Given the description of an element on the screen output the (x, y) to click on. 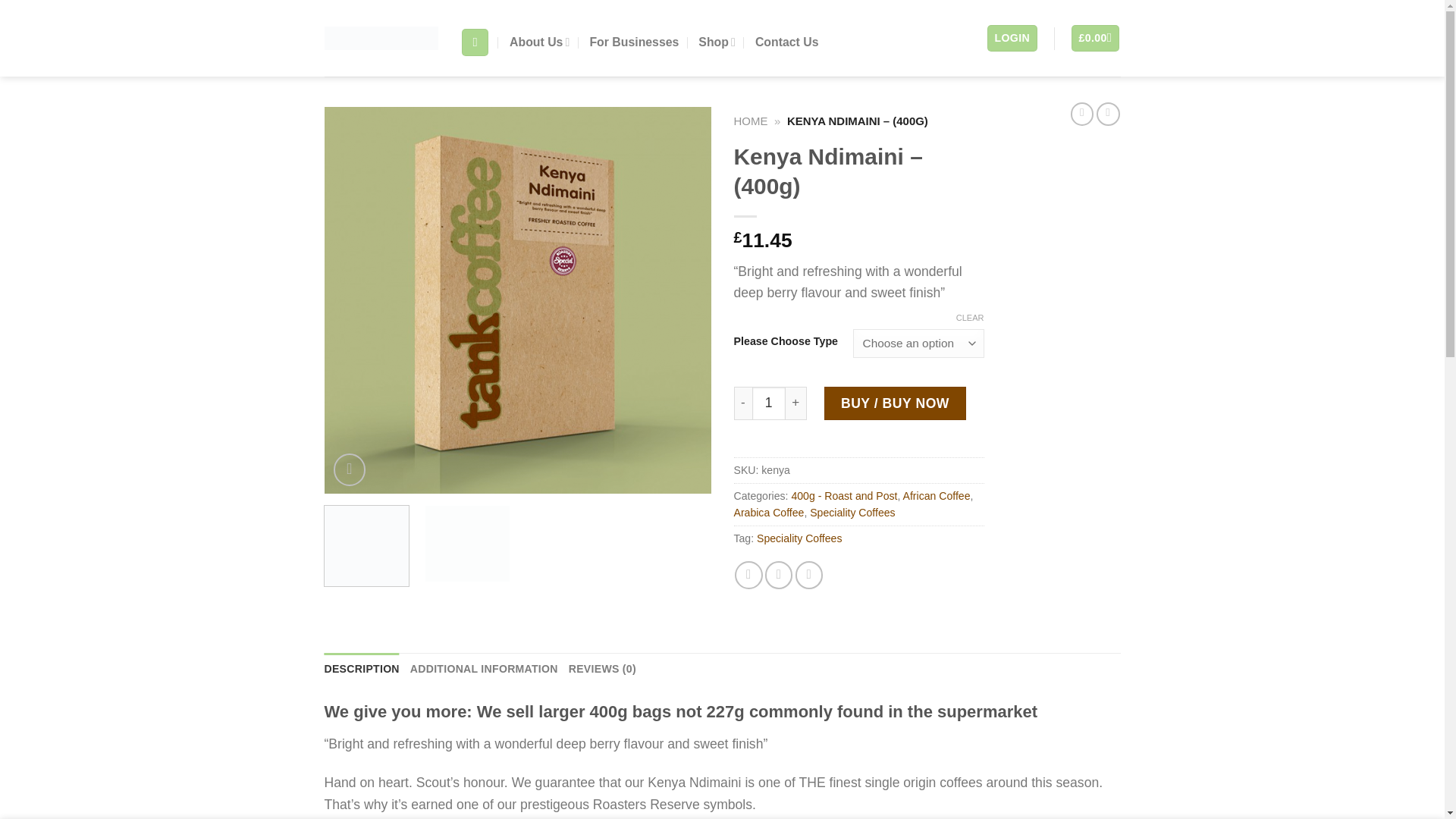
BUY NOW (895, 403)
CLEAR (970, 317)
Zoom (349, 469)
For Businesses (633, 42)
Share on Twitter (778, 574)
1 (769, 403)
HOME (750, 120)
400g - Roast and Post (843, 495)
Pin on Pinterest (808, 574)
Basket (1095, 38)
